Given the description of an element on the screen output the (x, y) to click on. 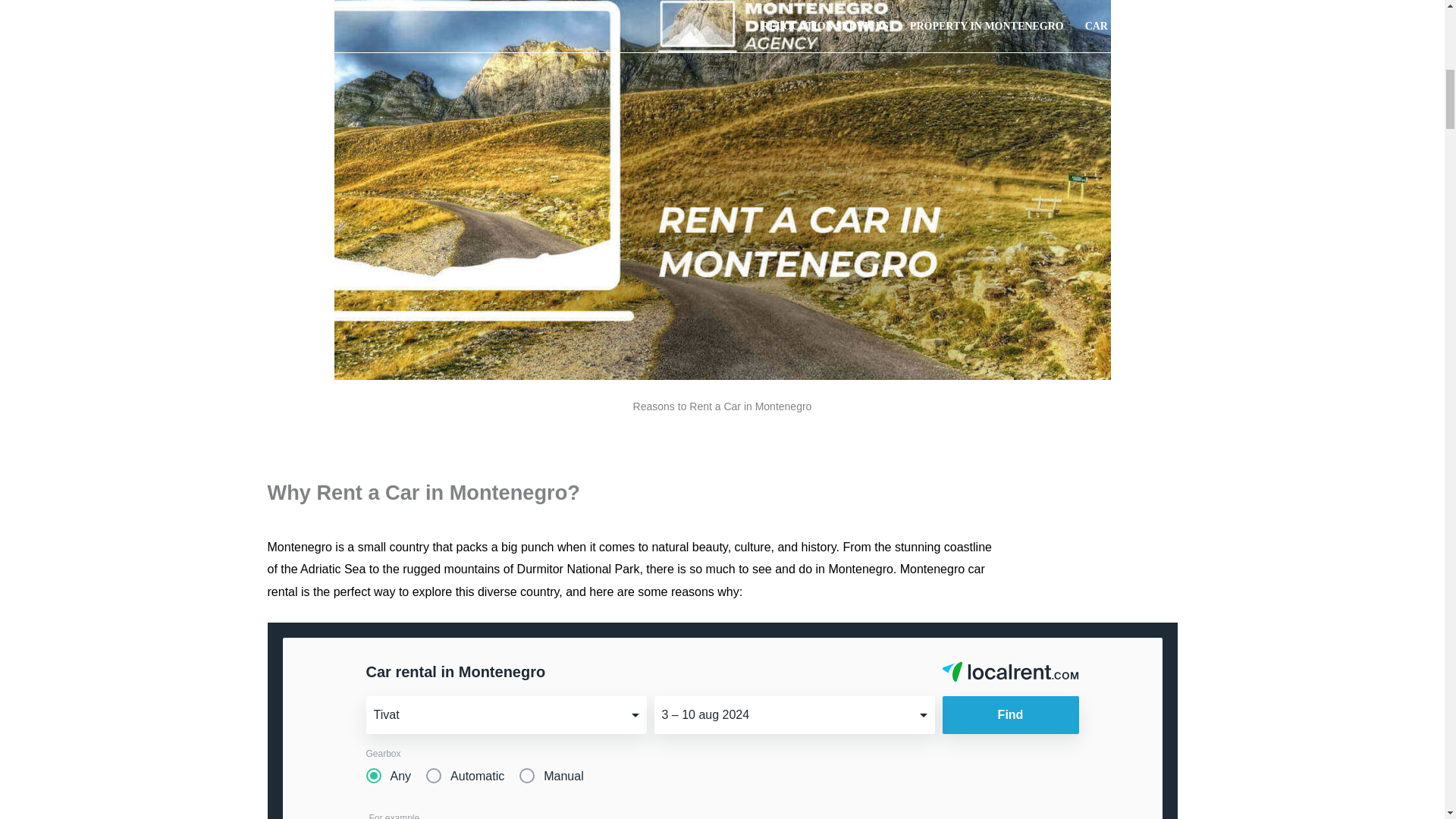
Find (1010, 714)
